Given the description of an element on the screen output the (x, y) to click on. 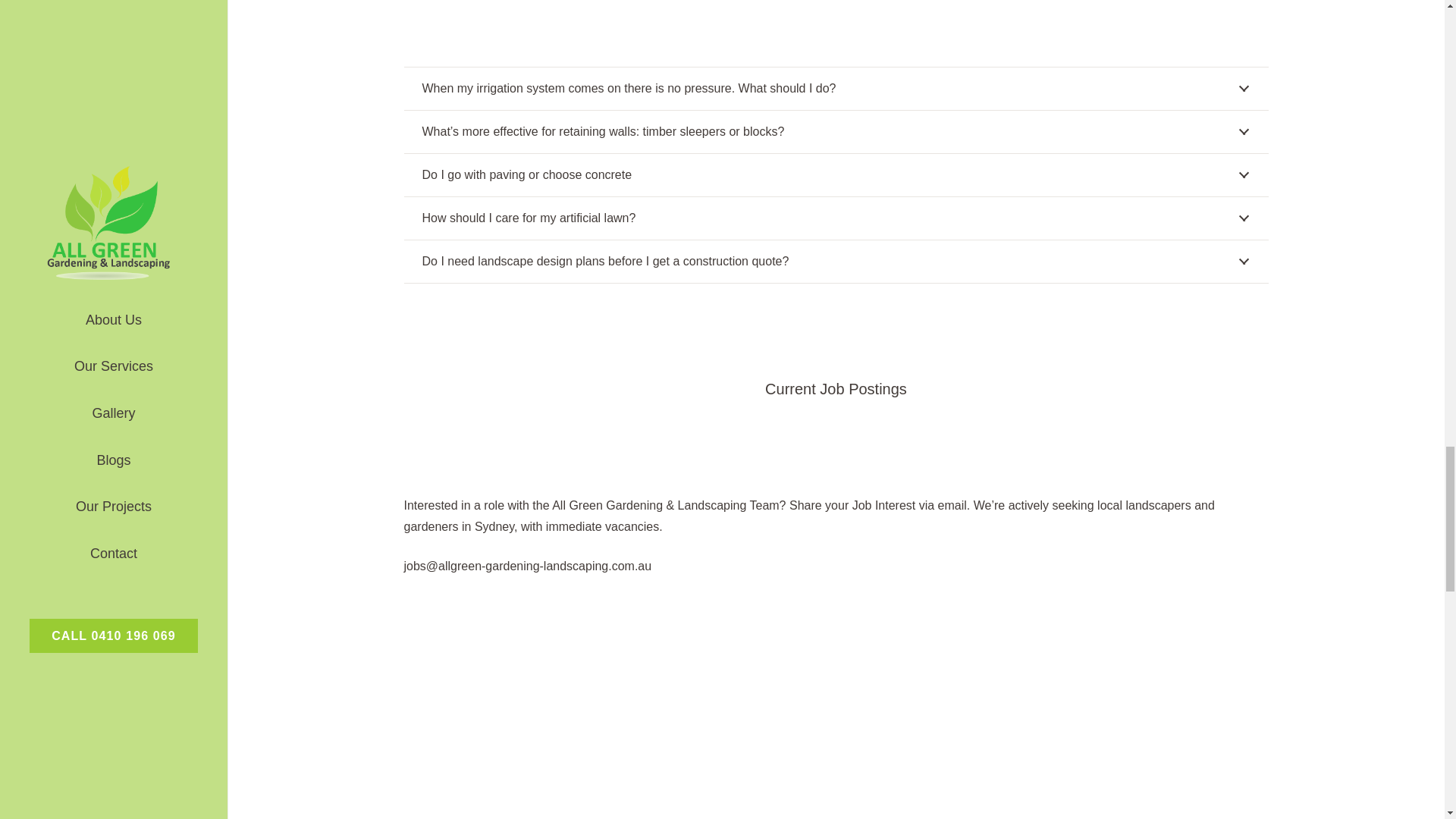
Do I go with paving or choose concrete (835, 174)
How should I care for my artificial lawn? (835, 218)
